Given the description of an element on the screen output the (x, y) to click on. 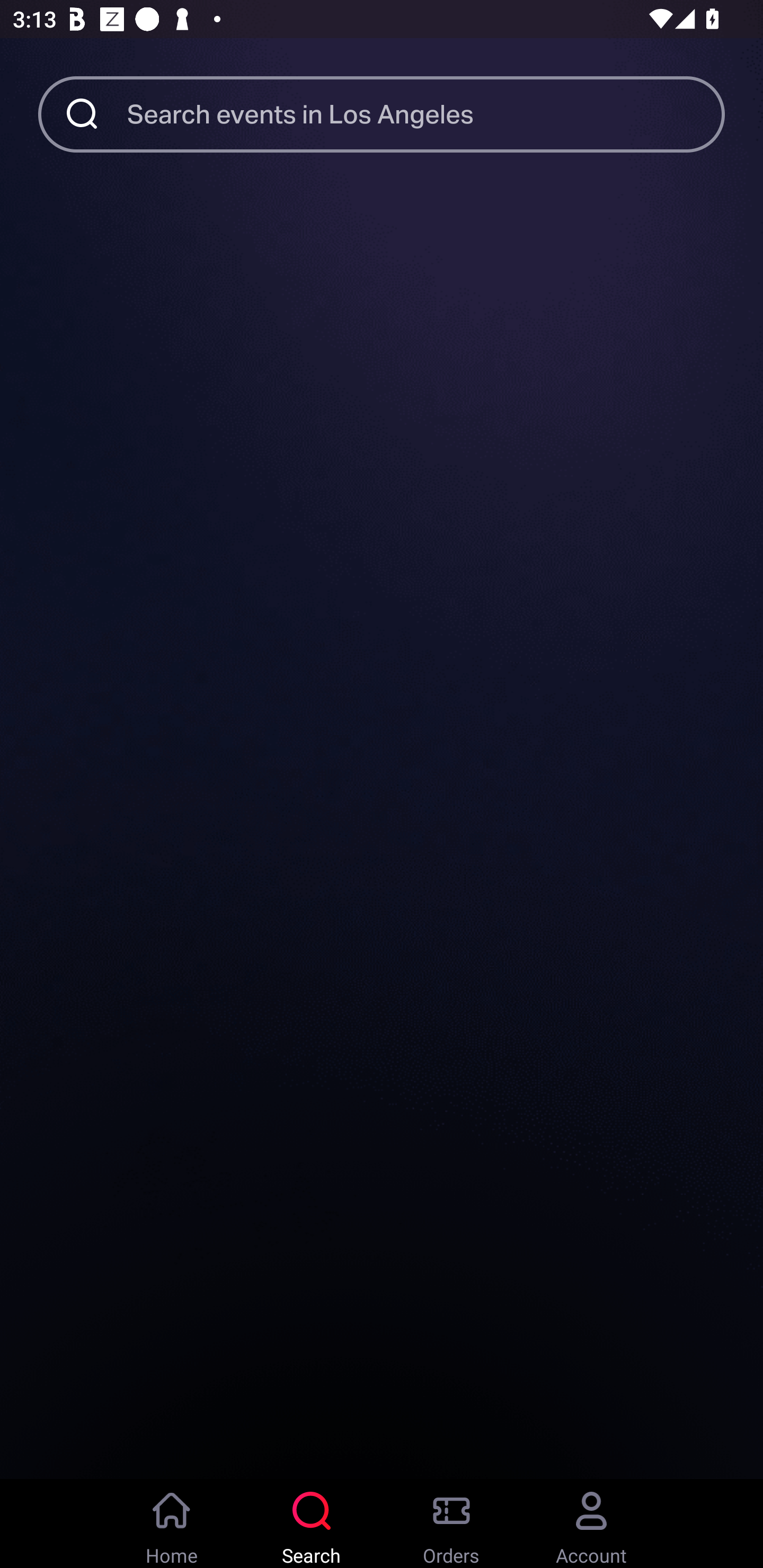
Search events in Los Angeles (425, 113)
Home (171, 1523)
Orders (451, 1523)
Account (591, 1523)
